Given the description of an element on the screen output the (x, y) to click on. 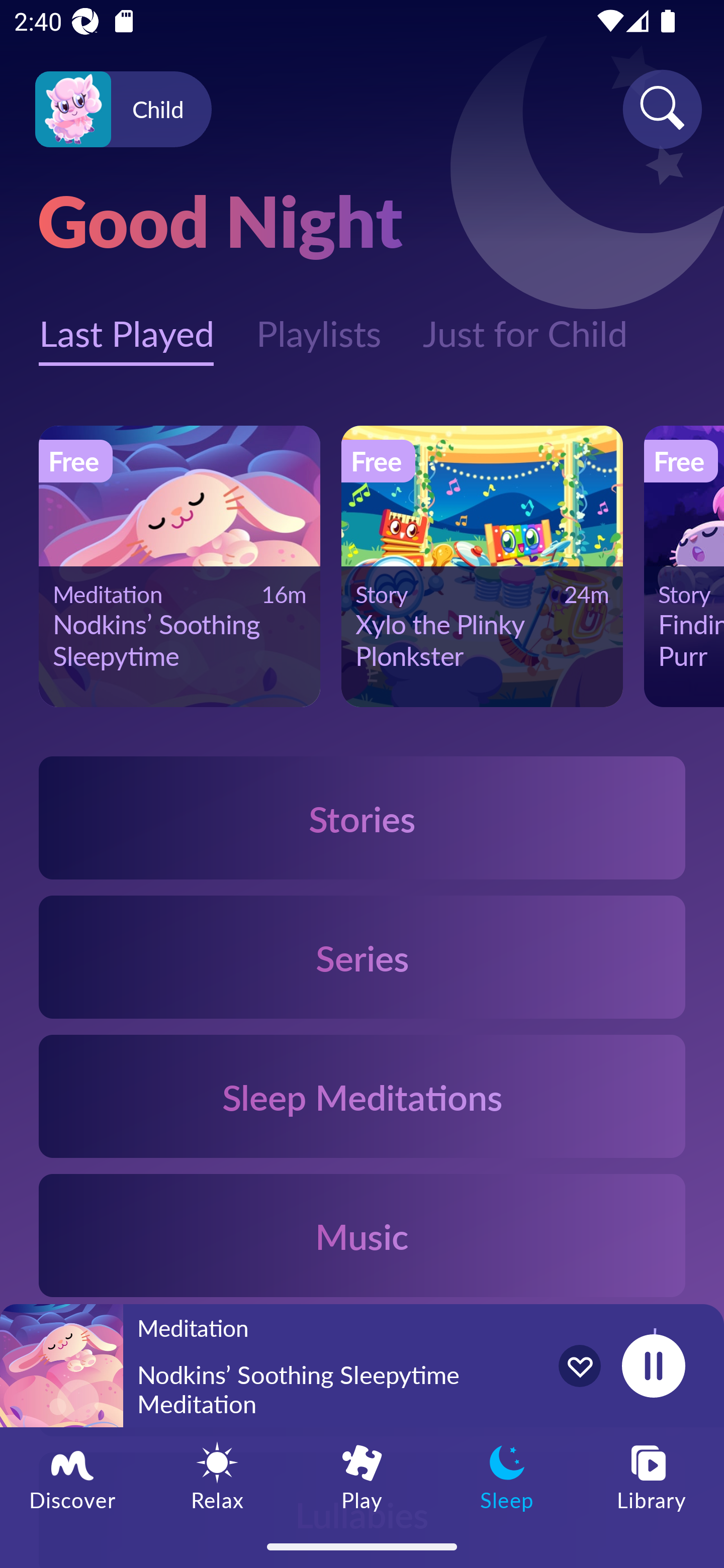
Profile icon Child (123, 109)
Playlists (317, 322)
Just for Child (524, 322)
Stories (361, 817)
Series (361, 957)
Sleep Meditations (361, 1096)
Music (361, 1234)
0.010417708 Pause (653, 1365)
Discover (72, 1475)
Relax (216, 1475)
Play (361, 1475)
Library (651, 1475)
